Given the description of an element on the screen output the (x, y) to click on. 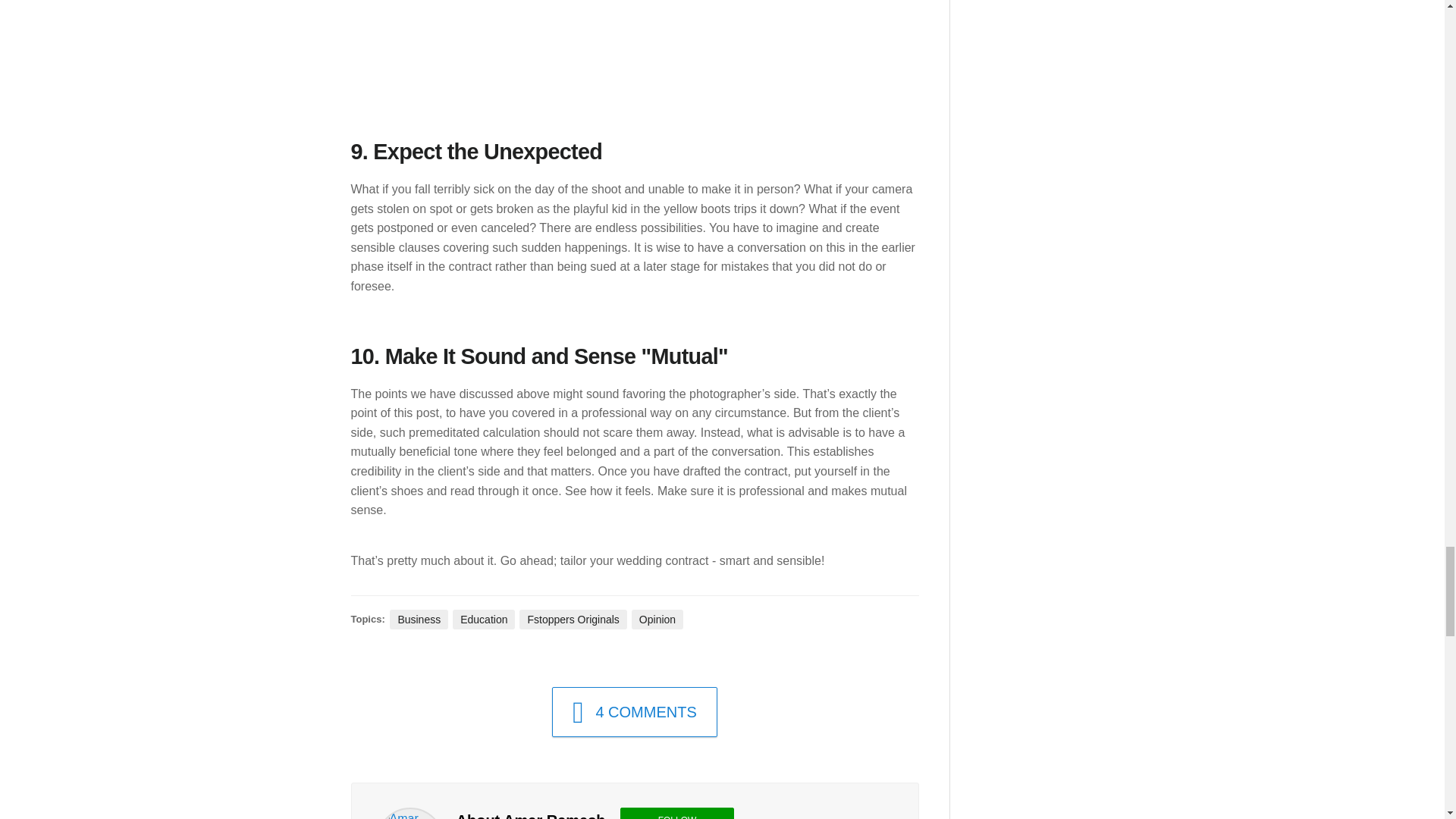
Opinion (656, 619)
FOLLOW (676, 813)
Fstoppers Originals (572, 619)
Business (419, 619)
4 COMMENTS (634, 712)
Education (483, 619)
